Given the description of an element on the screen output the (x, y) to click on. 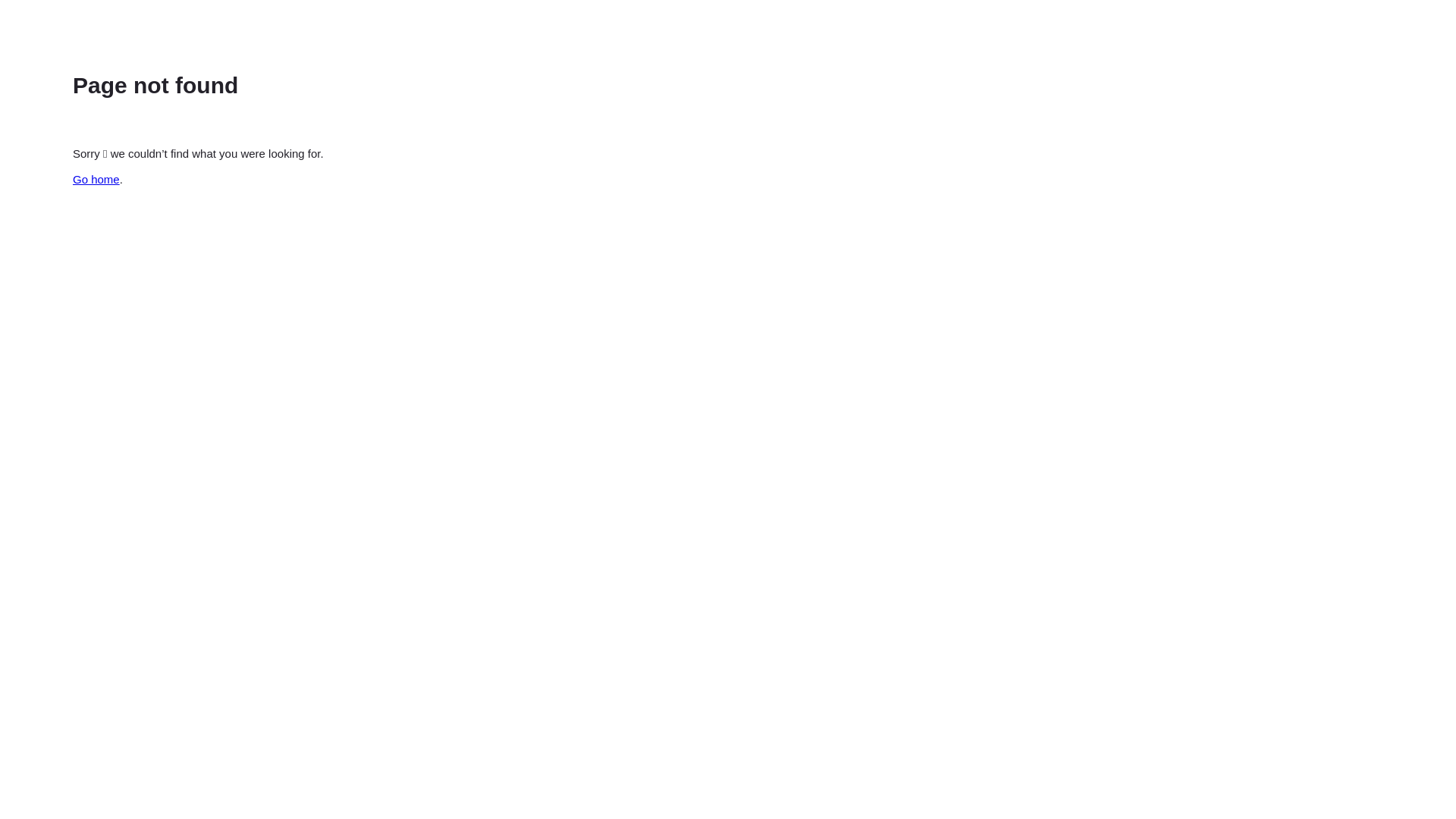
Go home Element type: text (95, 178)
